Given the description of an element on the screen output the (x, y) to click on. 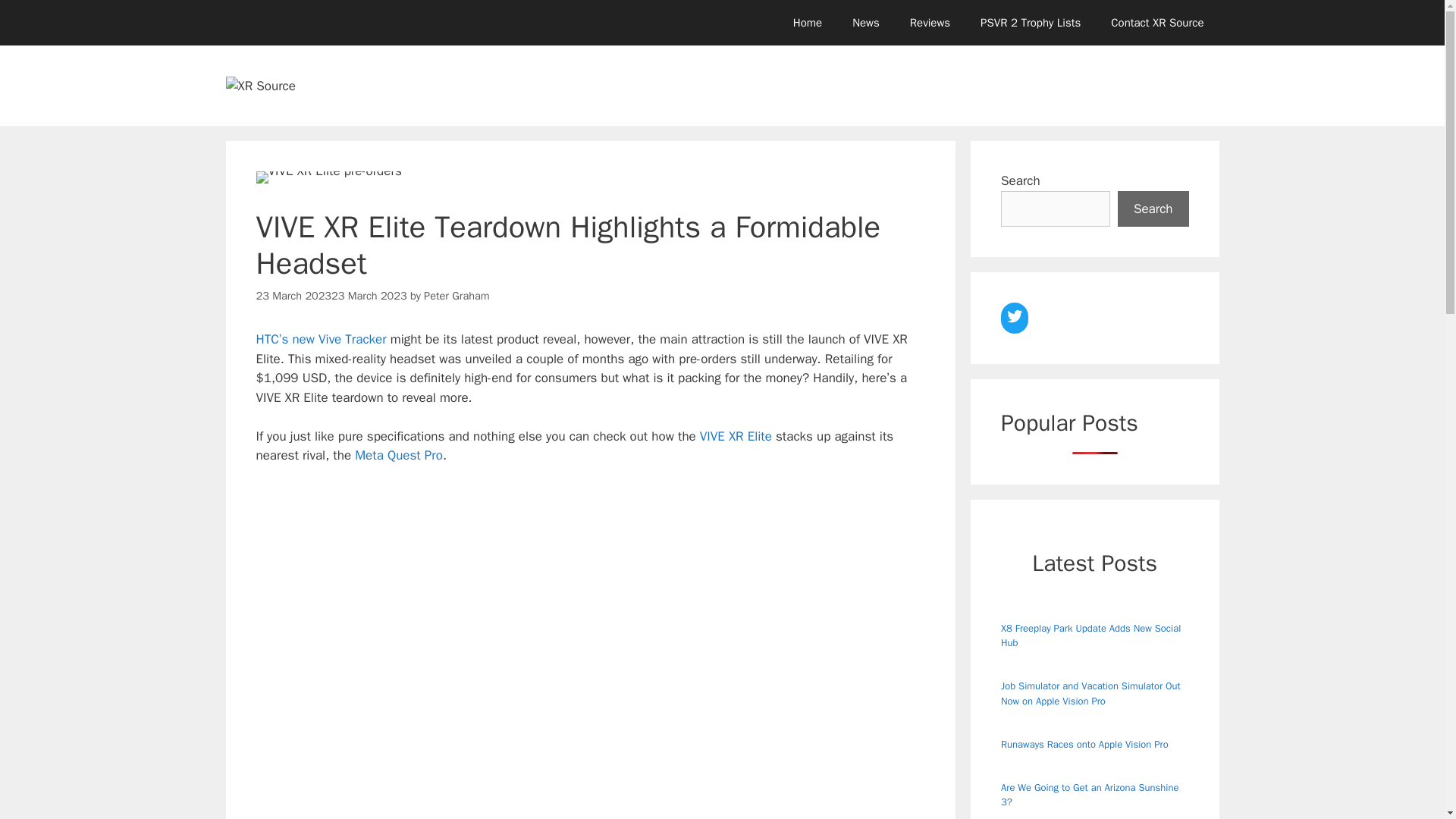
News (866, 22)
PSVR 2 Trophy Lists (1030, 22)
Peter Graham (456, 295)
Meta Quest Pro (398, 455)
Reviews (930, 22)
VIVE XR Elite (735, 436)
X8 Freeplay Park Update Adds New Social Hub (1090, 635)
Home (807, 22)
Are We Going to Get an Arizona Sunshine 3? (1089, 795)
Search (1153, 208)
Contact XR Source (1157, 22)
Runaways Races onto Apple Vision Pro (1085, 744)
Twitter (1014, 316)
View all posts by Peter Graham (456, 295)
